Given the description of an element on the screen output the (x, y) to click on. 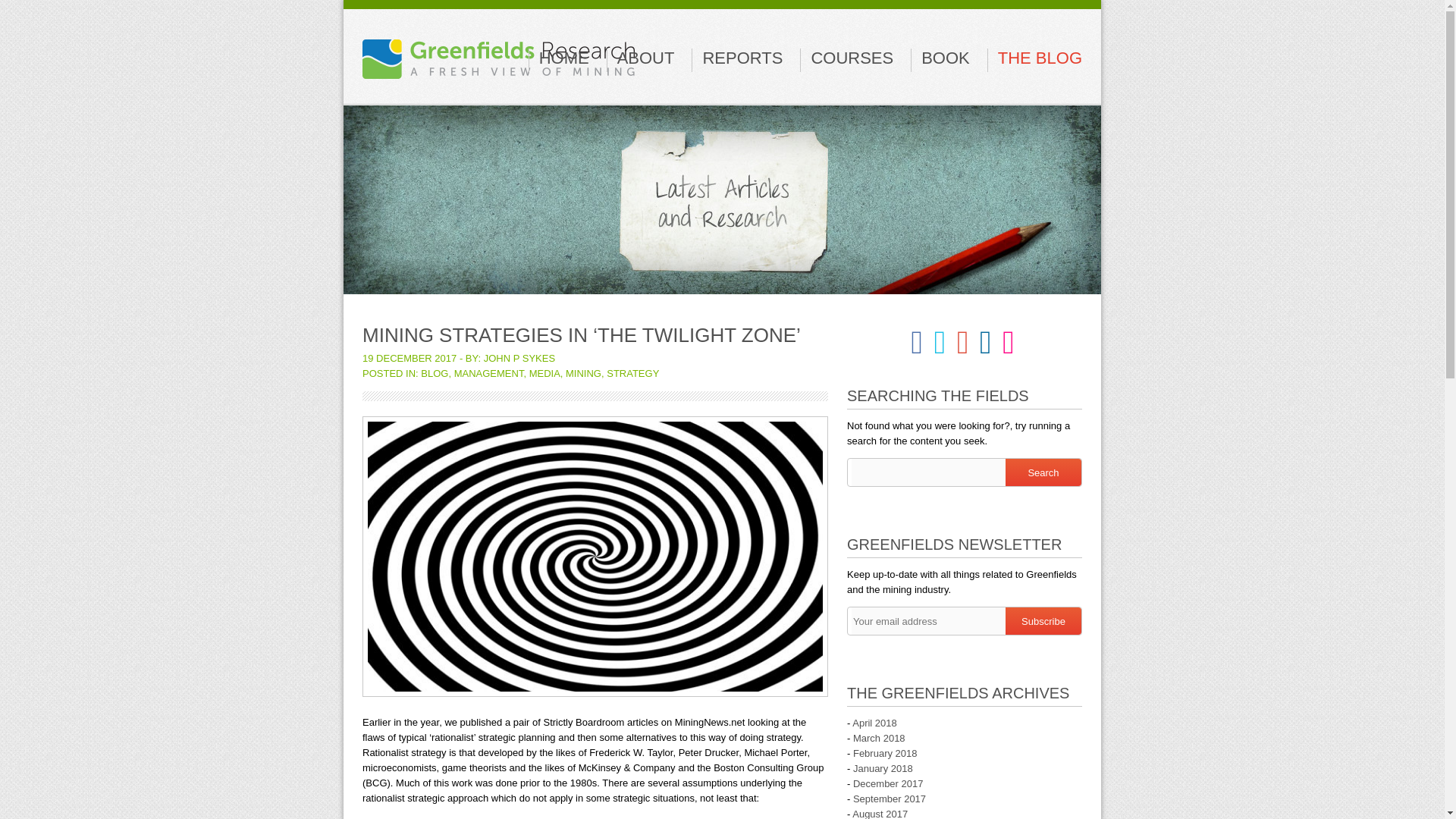
Subscribe (1043, 620)
STRATEGY (633, 373)
Return to our home page (498, 51)
MEDIA (544, 373)
HOME (563, 57)
MANAGEMENT (489, 373)
BOOK (945, 57)
Search (1043, 472)
REPORTS (742, 57)
THE BLOG (1039, 57)
